Given the description of an element on the screen output the (x, y) to click on. 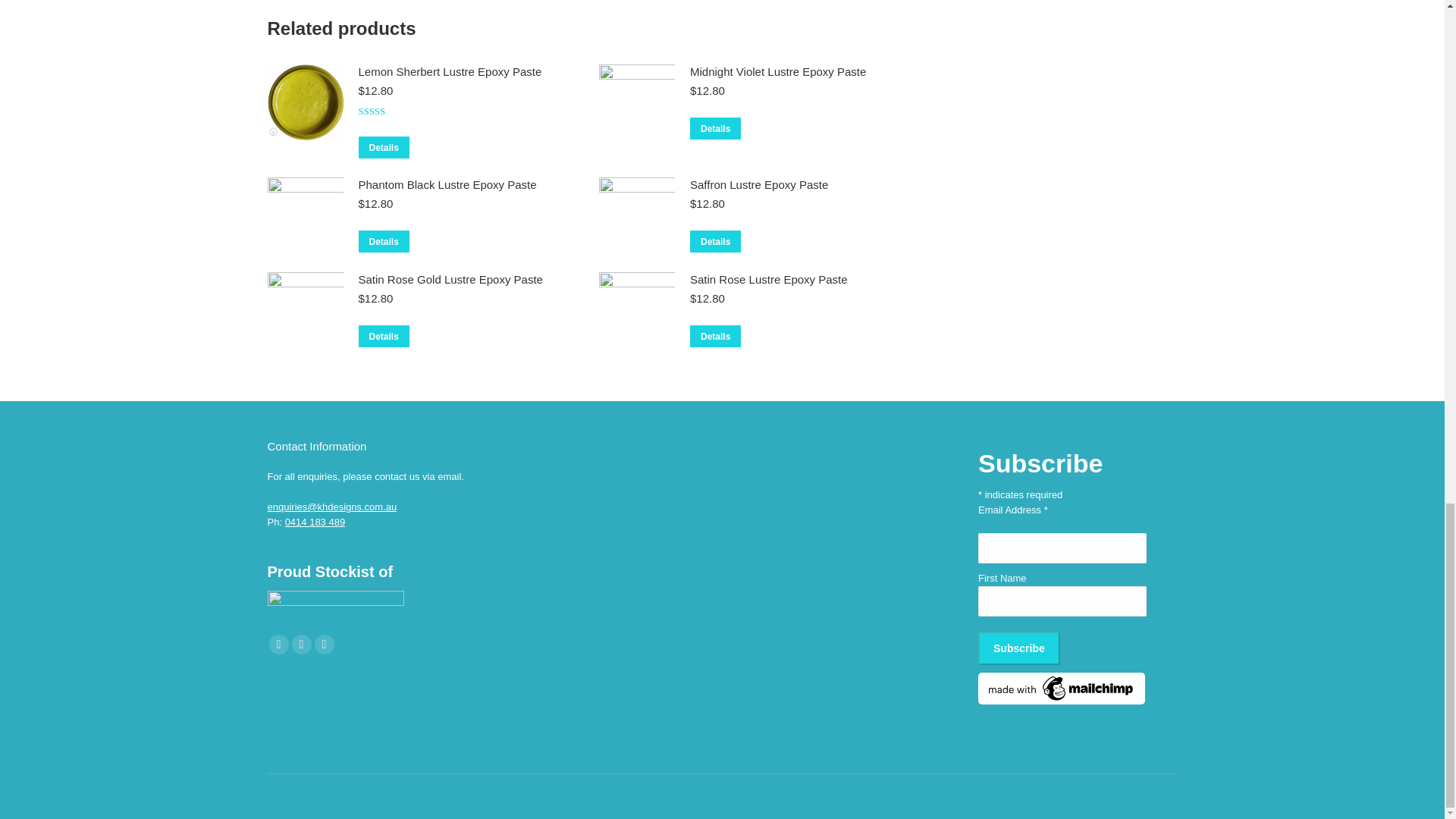
Subscribe (1018, 648)
